Given the description of an element on the screen output the (x, y) to click on. 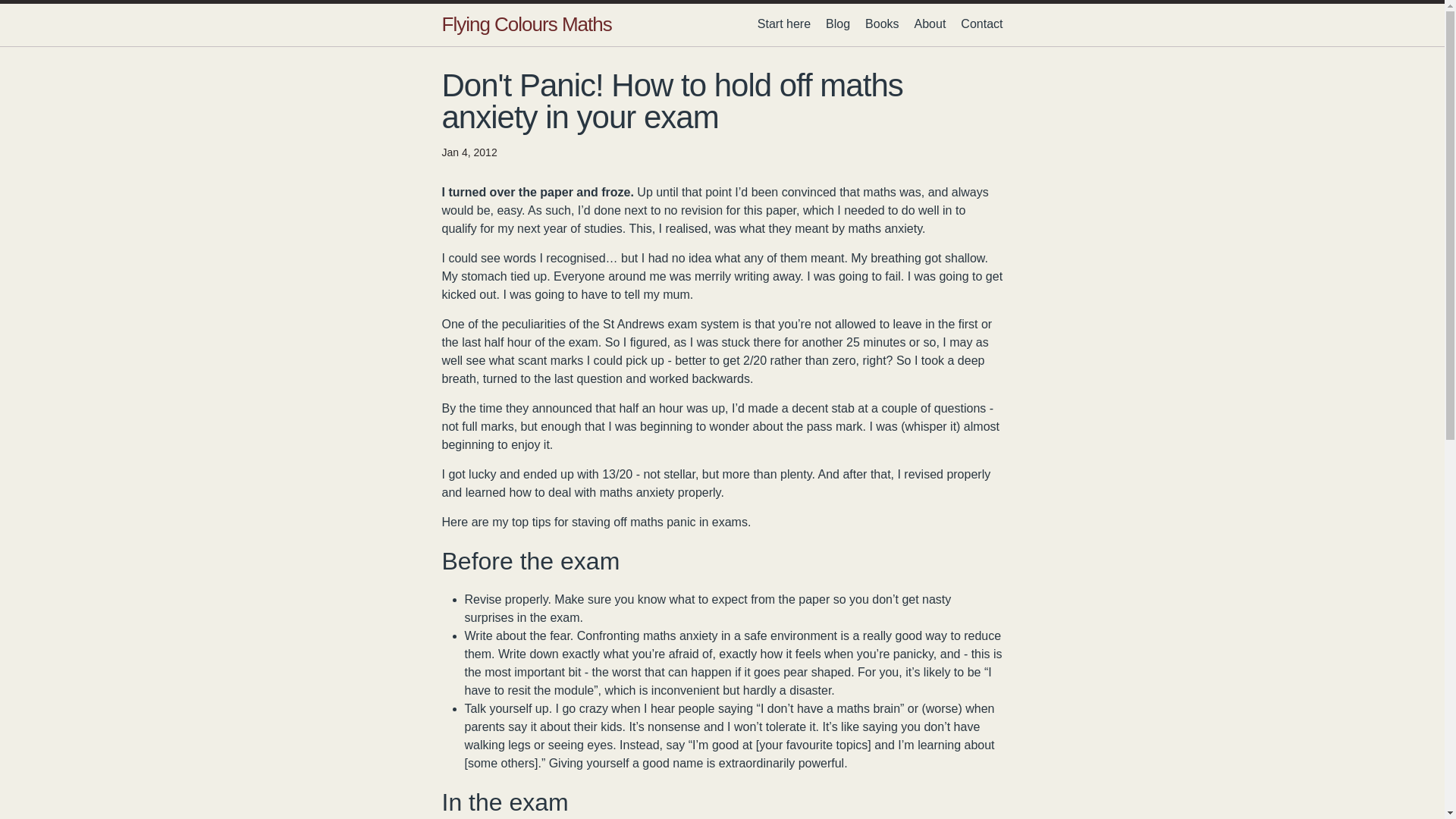
Flying Colours Maths (526, 24)
Blog (837, 23)
Contact (981, 23)
Start here (783, 23)
About (930, 23)
Books (881, 23)
